Given the description of an element on the screen output the (x, y) to click on. 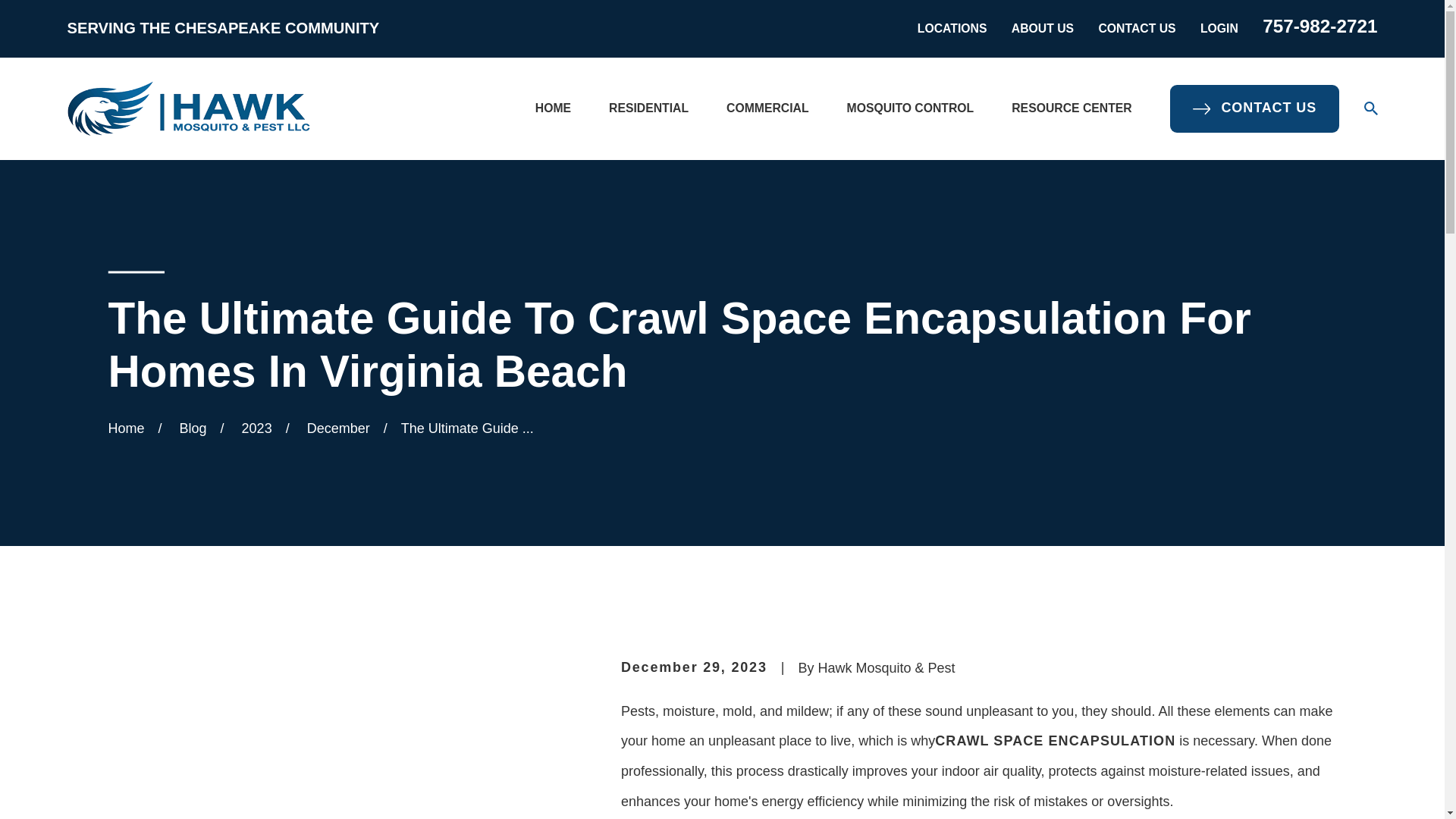
Go Home (125, 427)
MOSQUITO CONTROL (910, 108)
COMMERCIAL (767, 108)
CONTACT US (1135, 28)
ABOUT US (1042, 28)
Home (187, 108)
LOGIN (1219, 28)
RESOURCE CENTER (1071, 108)
757-982-2721 (1319, 25)
RESIDENTIAL (648, 108)
